Given the description of an element on the screen output the (x, y) to click on. 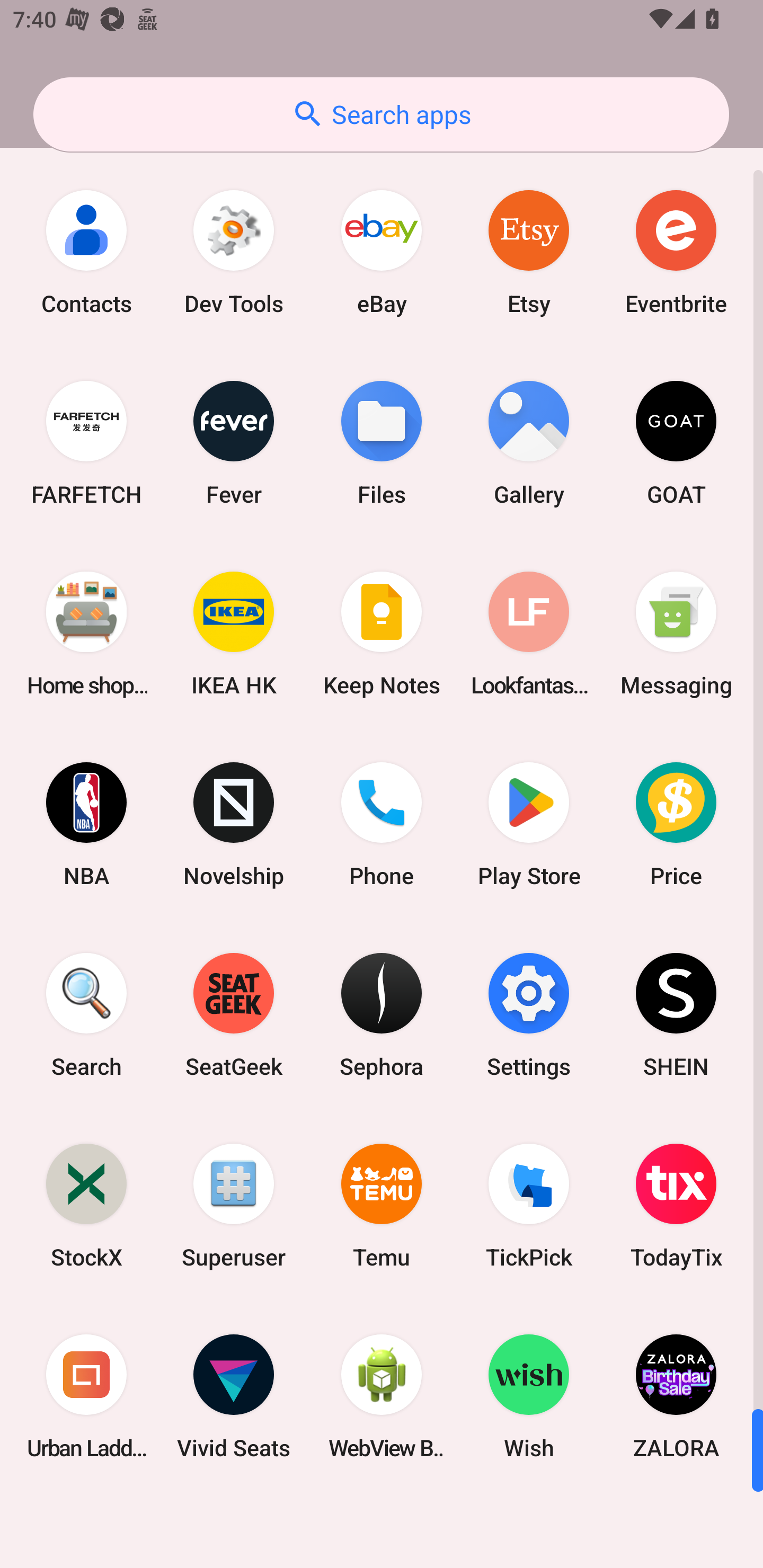
  Search apps (381, 114)
Contacts (86, 252)
Dev Tools (233, 252)
eBay (381, 252)
Etsy (528, 252)
Eventbrite (676, 252)
FARFETCH (86, 442)
Fever (233, 442)
Files (381, 442)
Gallery (528, 442)
GOAT (676, 442)
Home shopping (86, 633)
IKEA HK (233, 633)
Keep Notes (381, 633)
Lookfantastic (528, 633)
Messaging (676, 633)
NBA (86, 823)
Novelship (233, 823)
Phone (381, 823)
Play Store (528, 823)
Price (676, 823)
Search (86, 1014)
SeatGeek (233, 1014)
Sephora (381, 1014)
Settings (528, 1014)
SHEIN (676, 1014)
StockX (86, 1205)
Superuser (233, 1205)
Temu (381, 1205)
TickPick (528, 1205)
TodayTix (676, 1205)
Urban Ladder (86, 1396)
Vivid Seats (233, 1396)
WebView Browser Tester (381, 1396)
Wish (528, 1396)
ZALORA (676, 1396)
